Given the description of an element on the screen output the (x, y) to click on. 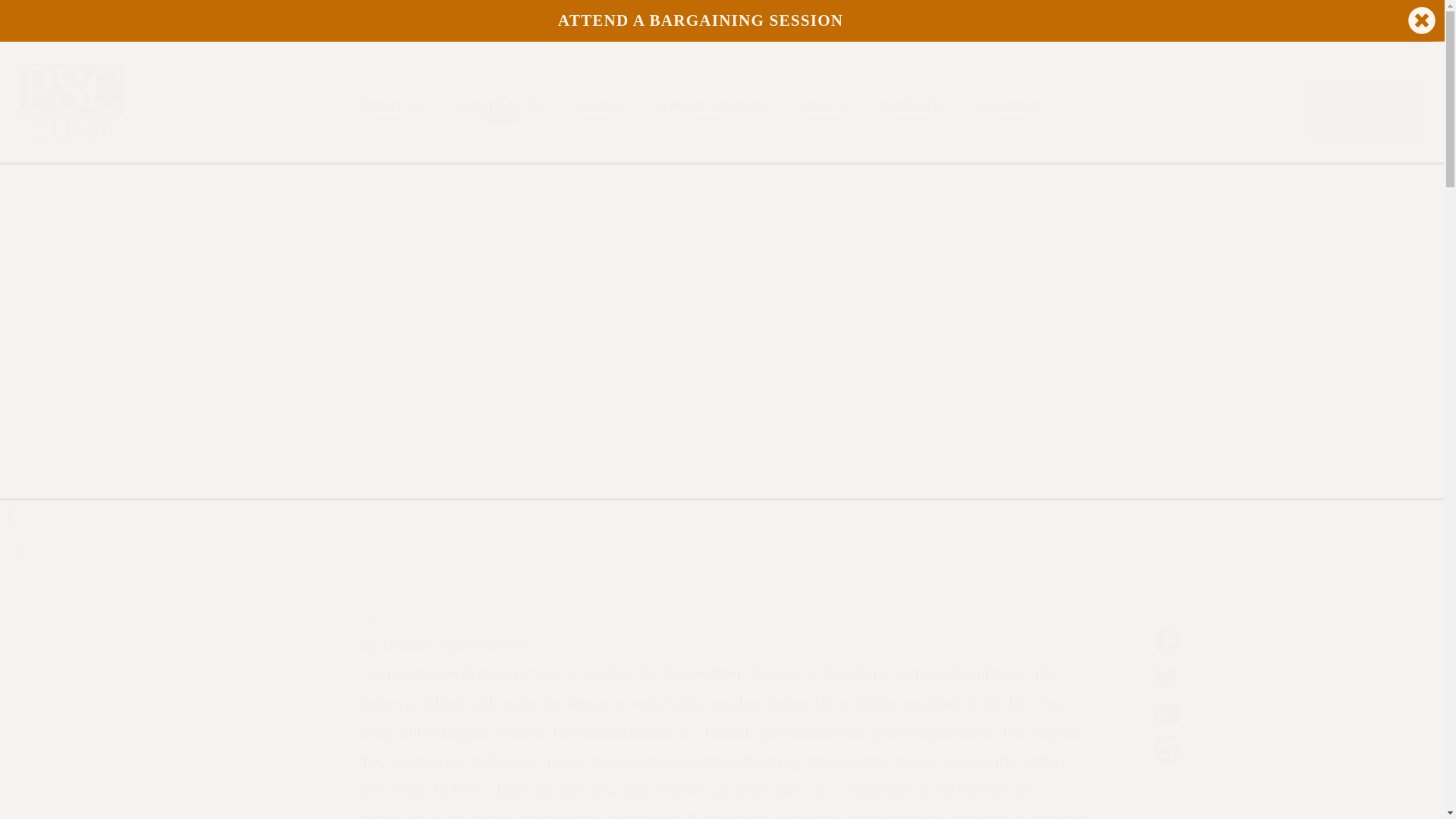
ABOUT US (390, 105)
CONTRACTS (498, 105)
